Given the description of an element on the screen output the (x, y) to click on. 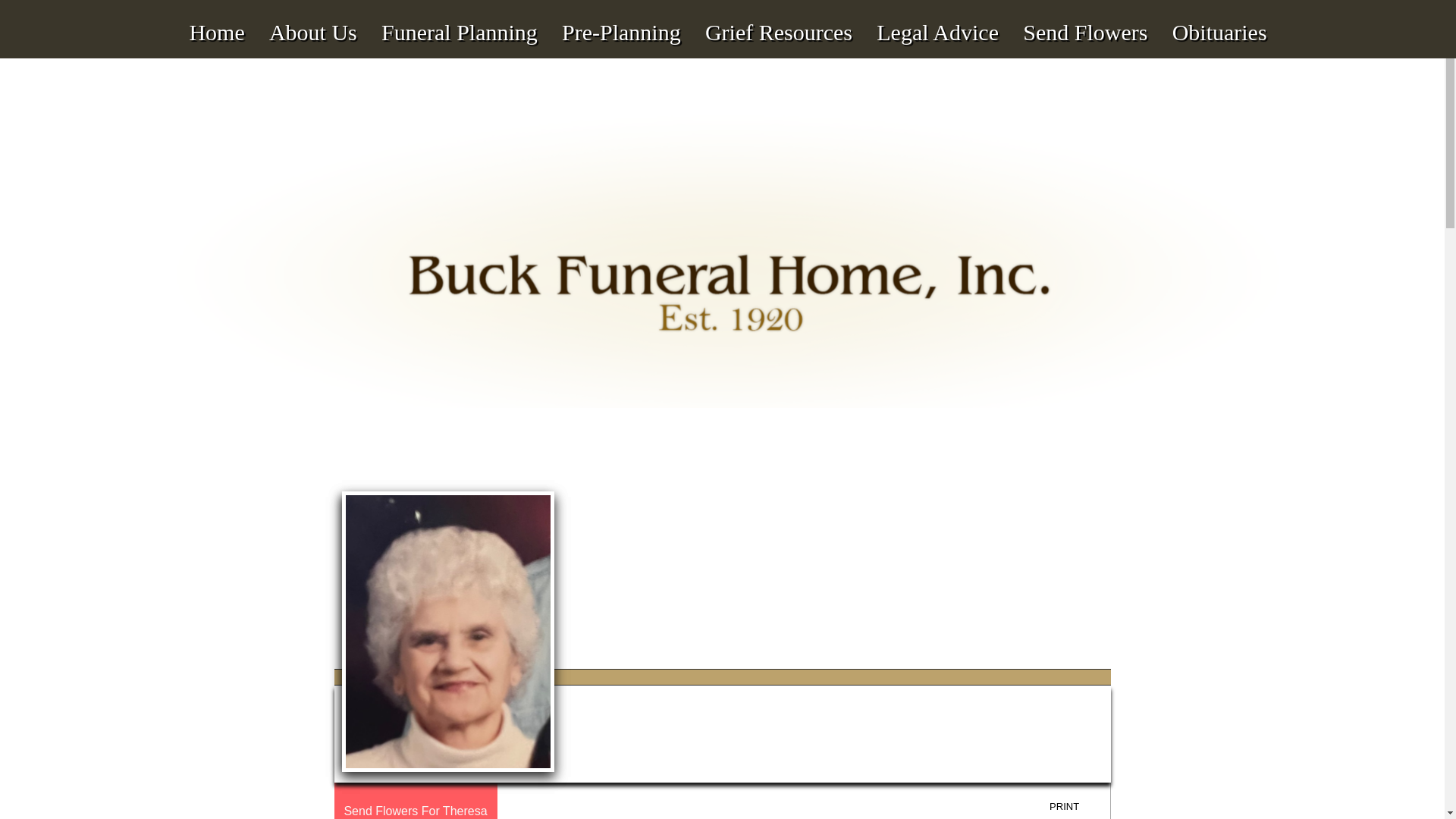
About Us (312, 18)
Obituaries (1219, 18)
Grief Resources (778, 18)
Send Flowers (1084, 18)
Pre-Planning (621, 18)
Print (1075, 806)
Legal Advice (937, 18)
Home (216, 18)
Funeral Planning (458, 18)
